Given the description of an element on the screen output the (x, y) to click on. 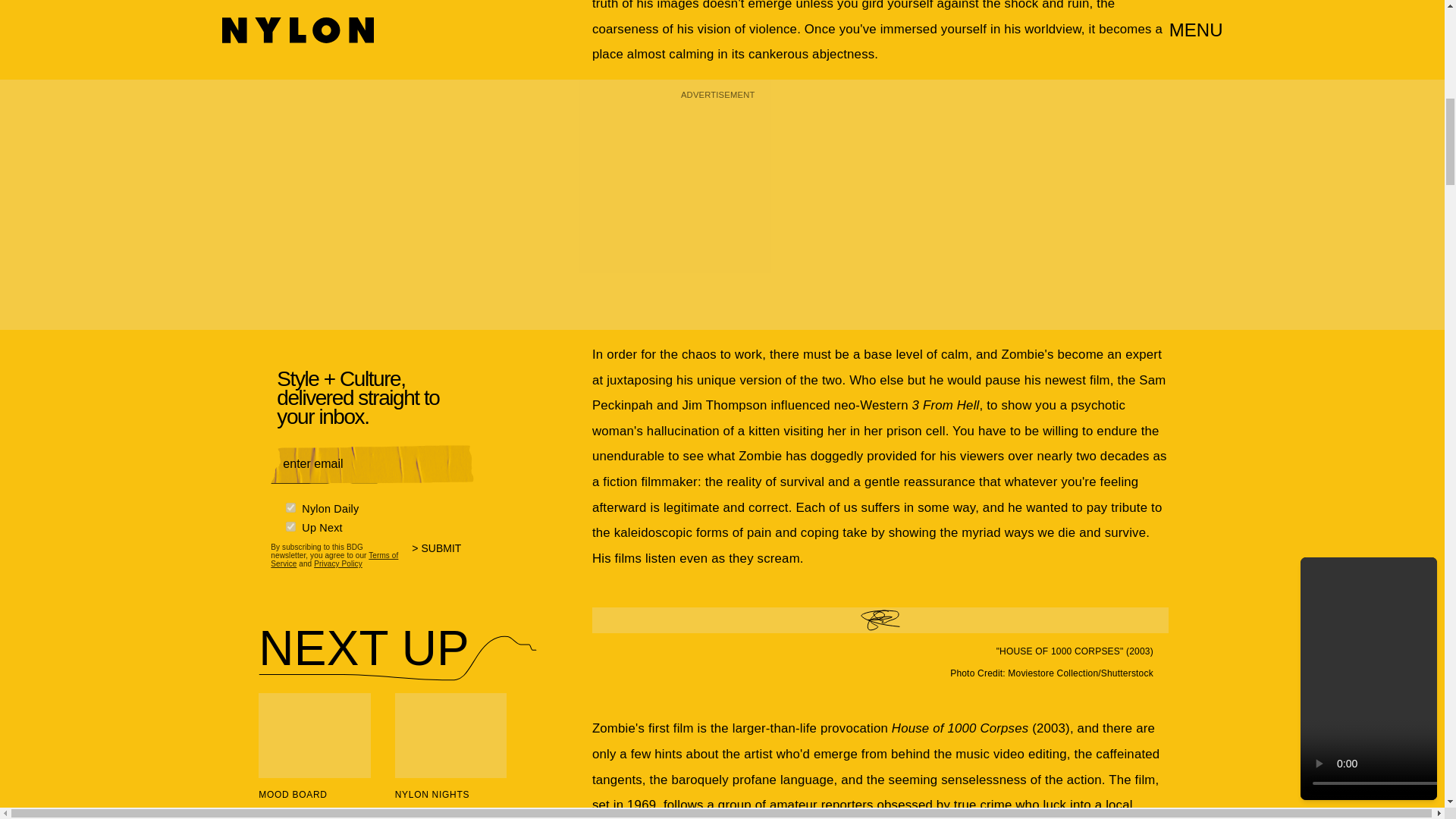
SUBMIT (443, 550)
Privacy Policy (338, 559)
Terms of Service (333, 553)
